Given the description of an element on the screen output the (x, y) to click on. 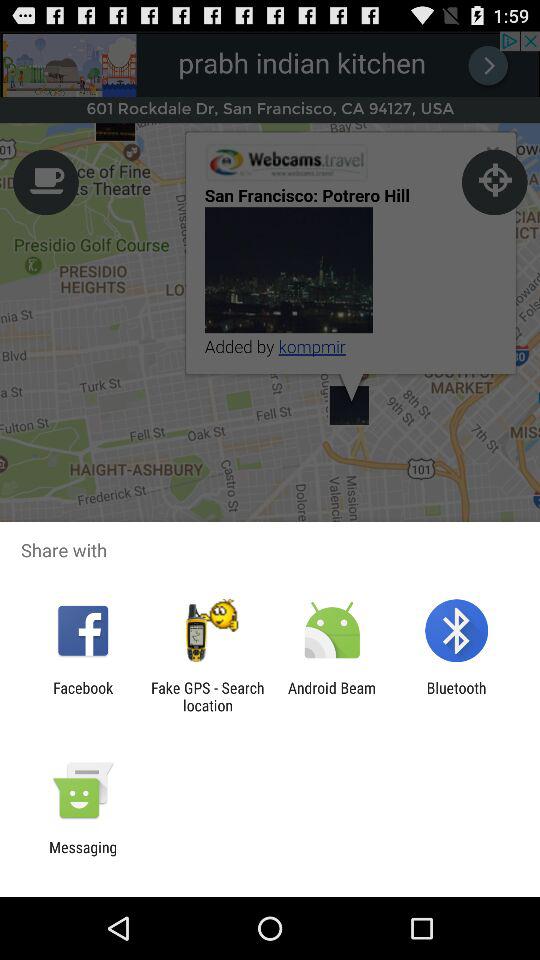
click the fake gps search (207, 696)
